Given the description of an element on the screen output the (x, y) to click on. 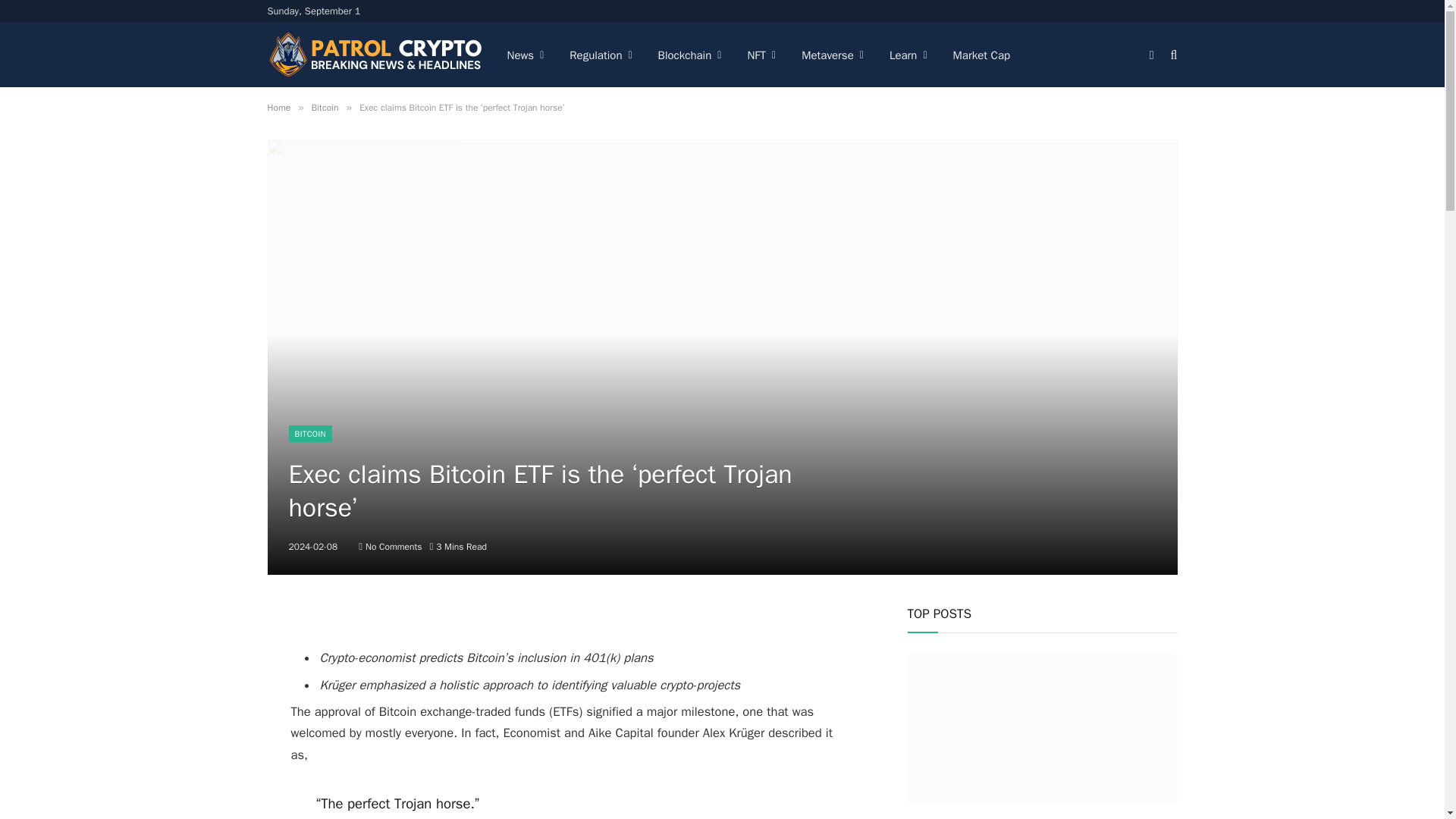
Regulation (600, 54)
News (526, 54)
Patrol Crypto (373, 54)
Blockchain (690, 54)
